Given the description of an element on the screen output the (x, y) to click on. 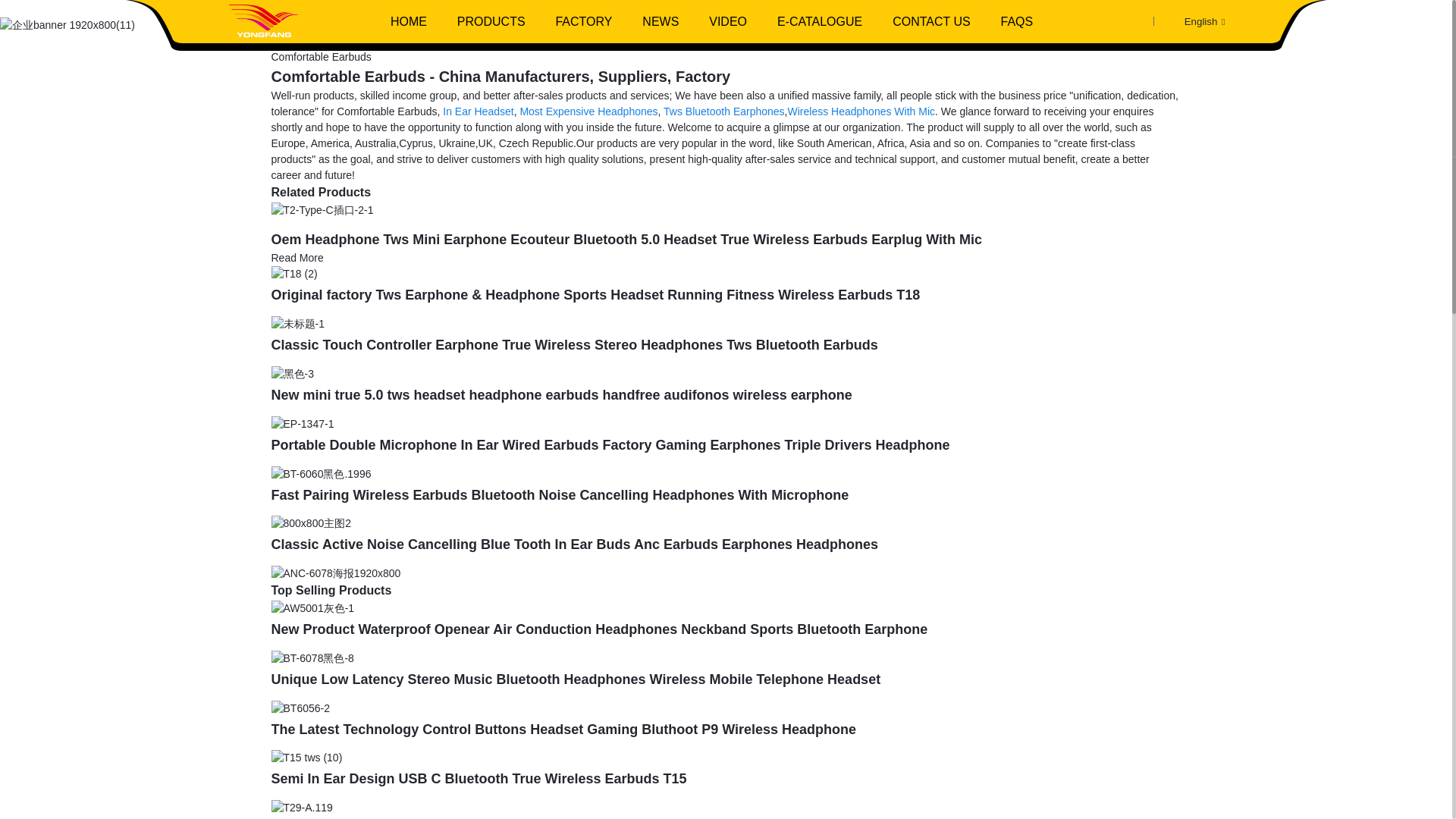
Wireless Headphones With Mic (860, 111)
HOME (409, 21)
E-CATALOGUE (819, 21)
FAQS (1016, 21)
Tws Bluetooth Earphones (723, 111)
